Given the description of an element on the screen output the (x, y) to click on. 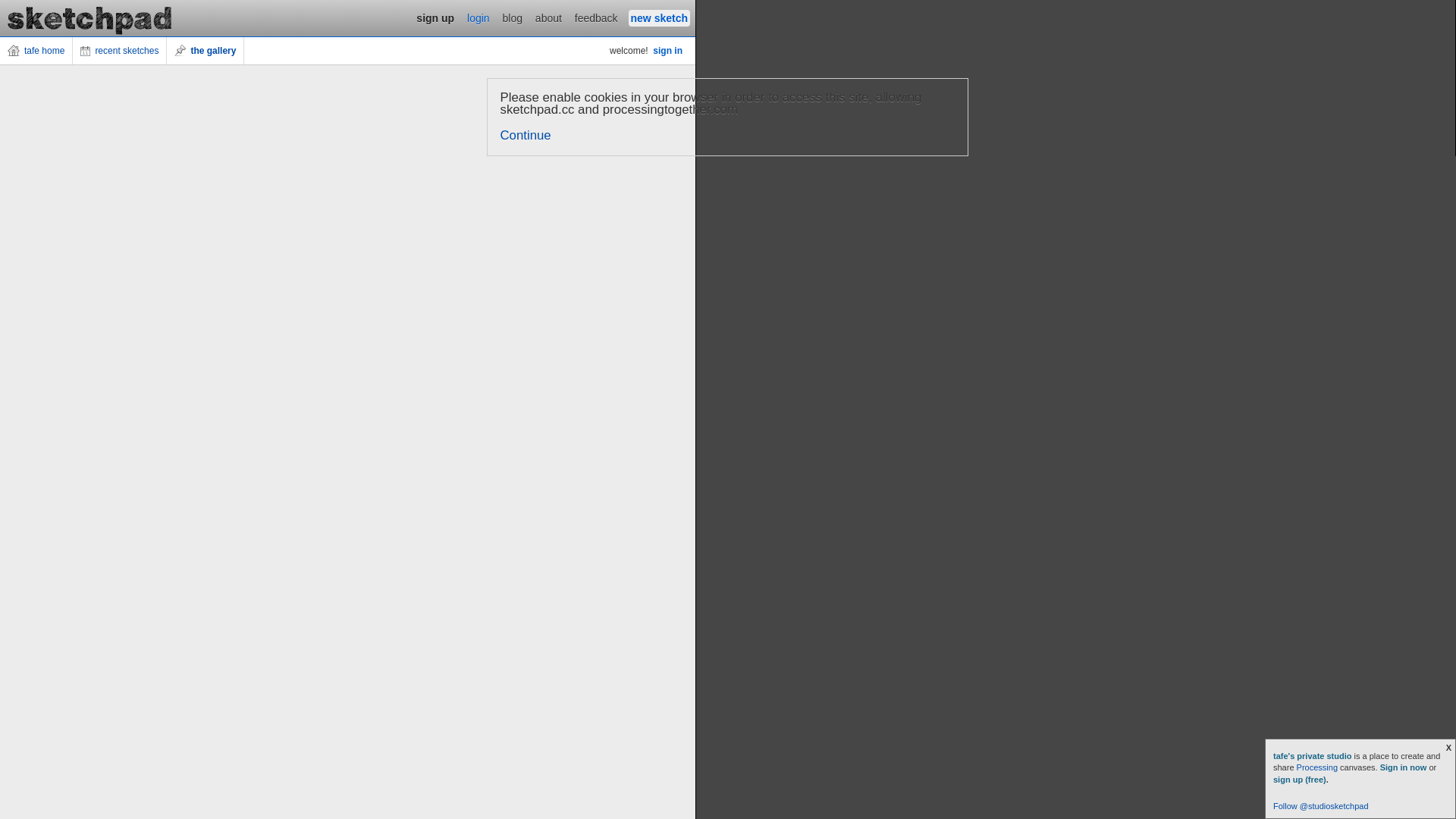
Processing Element type: text (1316, 766)
the gallery Element type: text (205, 50)
Follow @studiosketchpad Element type: text (1320, 805)
Sign in now Element type: text (1403, 766)
sign in Element type: text (667, 50)
login Element type: text (478, 17)
tafe home Element type: text (36, 50)
recent sketches Element type: text (119, 50)
Continue Element type: text (525, 135)
Studio Sketchpad is Processing on Etherpad Element type: hover (90, 18)
about Element type: text (548, 17)
tafe's private studio Element type: text (1313, 755)
sign up (free) Element type: text (1299, 779)
blog Element type: text (512, 17)
new sketch Element type: text (659, 17)
feedback Element type: text (596, 17)
sign up Element type: text (435, 17)
